Given the description of an element on the screen output the (x, y) to click on. 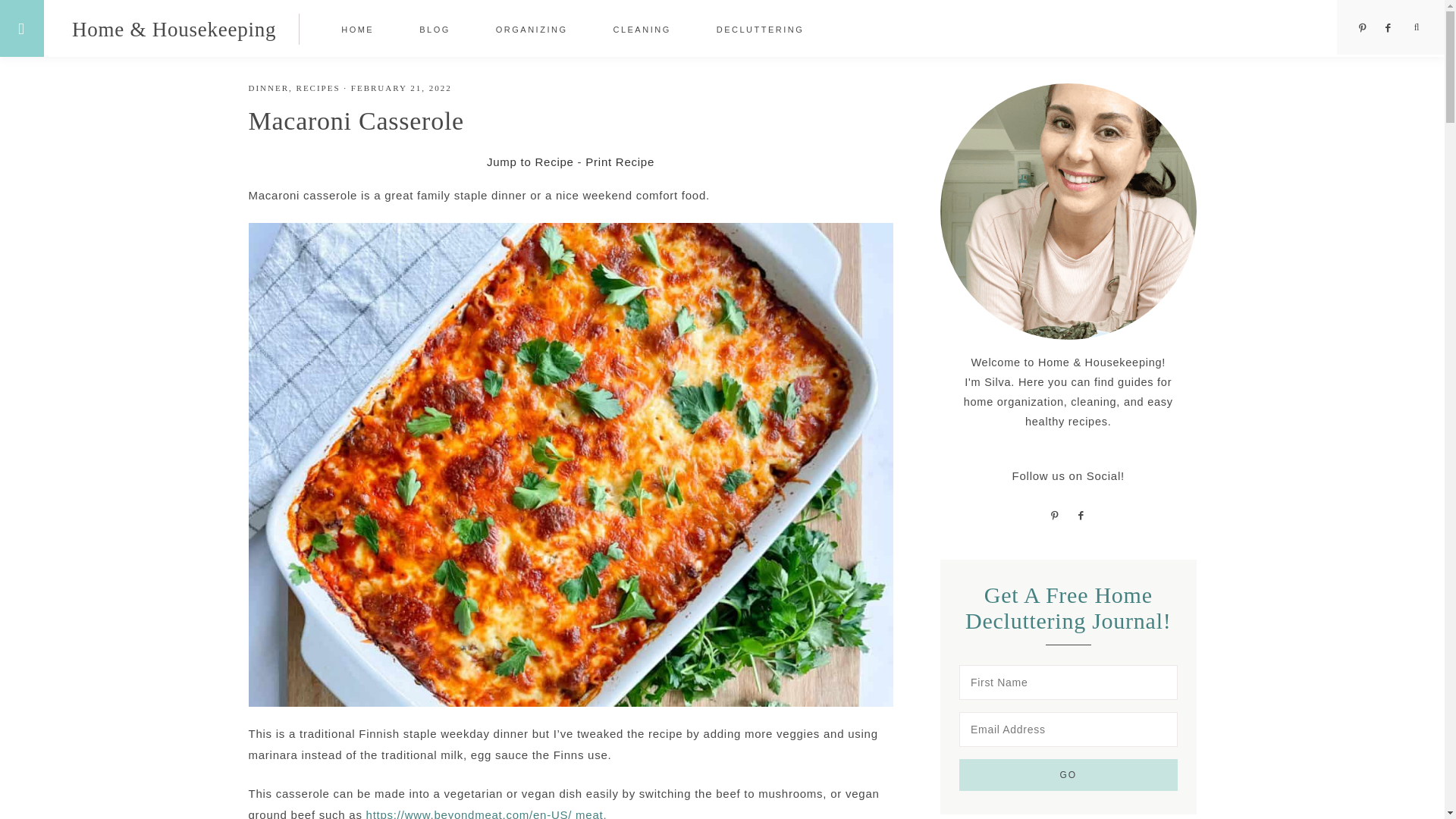
RECIPES (318, 87)
BLOG (434, 29)
ORGANIZING (532, 29)
Facebook (1388, 27)
Jump to Recipe (529, 161)
DINNER (268, 87)
CLEANING (641, 29)
HOME (357, 29)
DECLUTTERING (760, 29)
GO (1068, 775)
